Given the description of an element on the screen output the (x, y) to click on. 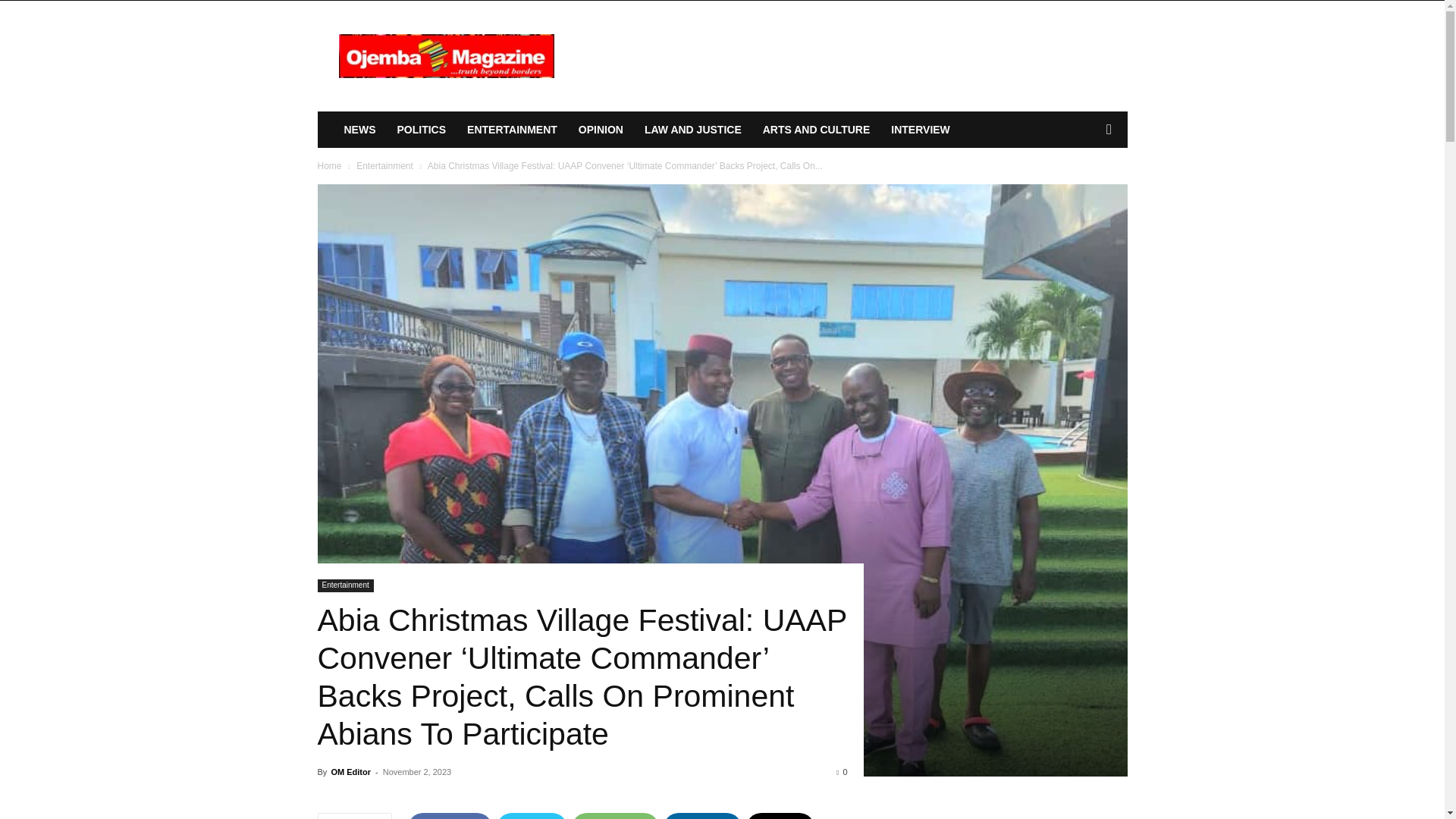
Facebook (449, 816)
View all posts in Entertainment (384, 165)
Search (1085, 190)
Email (779, 816)
LAW AND JUSTICE (692, 129)
OM Editor (350, 771)
POLITICS (422, 129)
Twitter (531, 816)
ENTERTAINMENT (512, 129)
NEWS (360, 129)
Twitter (531, 816)
ARTS AND CULTURE (816, 129)
Email (779, 816)
Entertainment (344, 585)
Linkedin (702, 816)
